Given the description of an element on the screen output the (x, y) to click on. 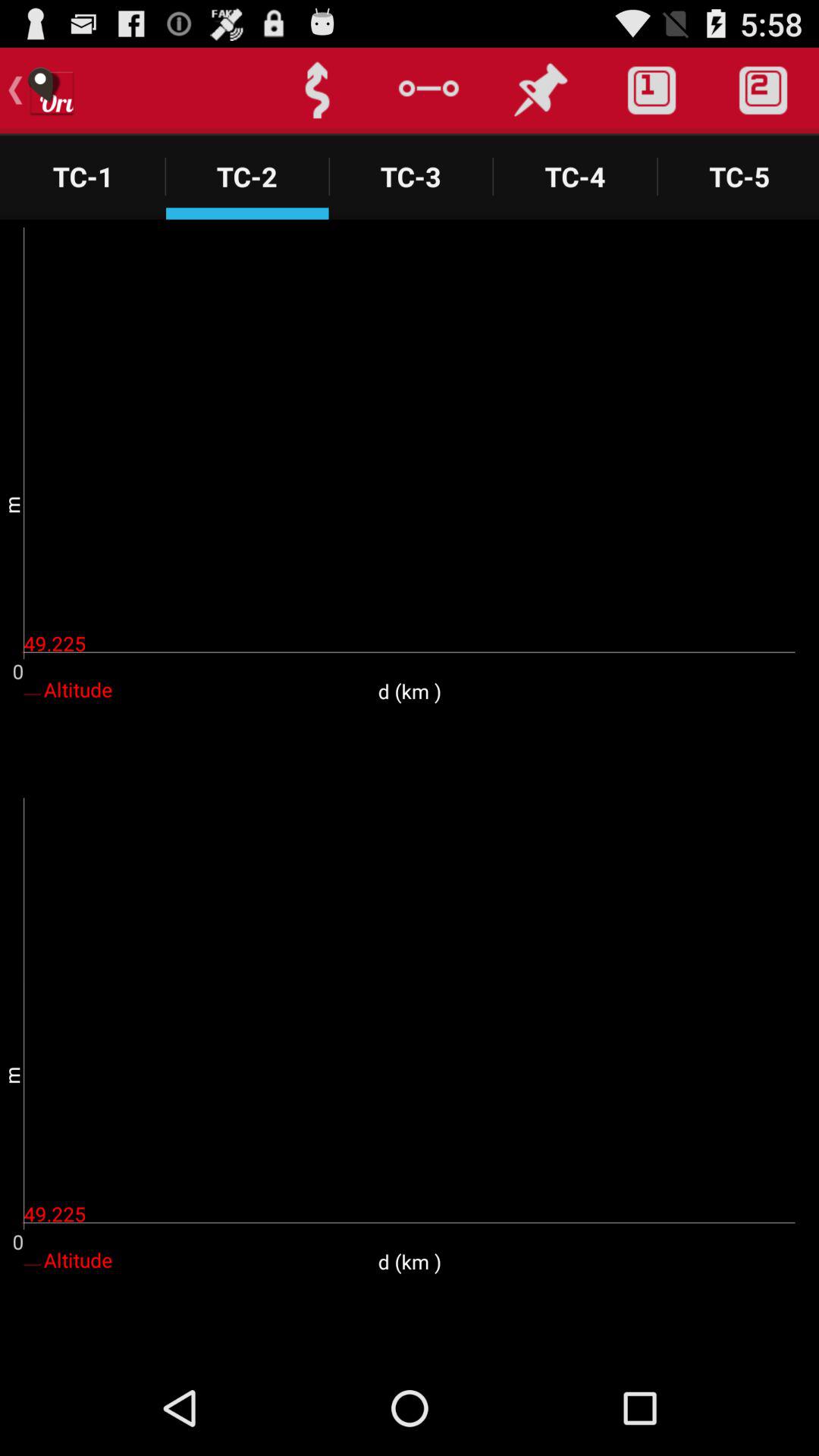
click pin option (540, 90)
